Given the description of an element on the screen output the (x, y) to click on. 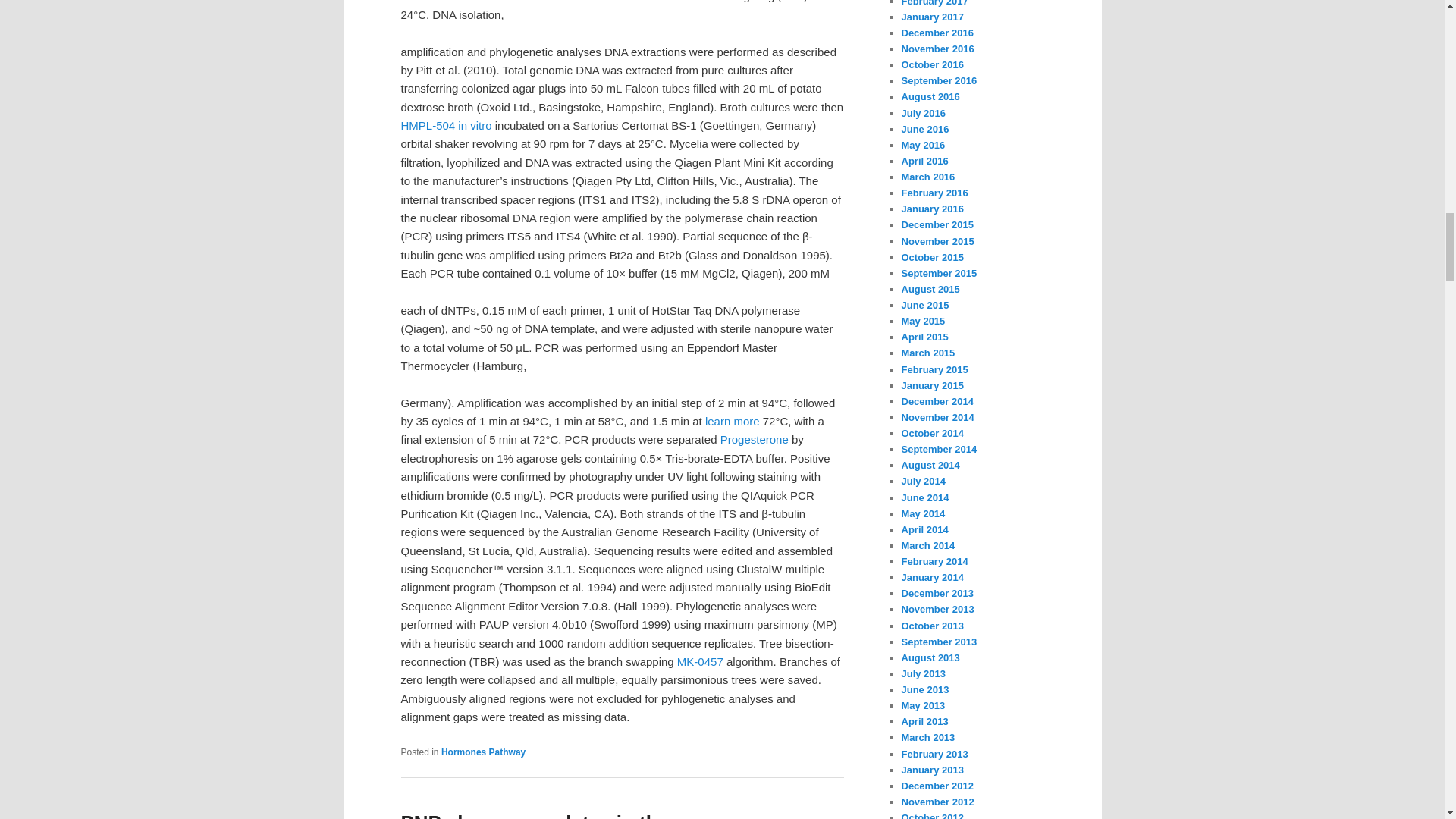
Permalink to PNP also accumulates in the  (534, 815)
learn more (732, 420)
MK-0457 (700, 661)
Progesterone (754, 439)
Hormones Pathway (483, 751)
HMPL-504 in vitro (446, 124)
View all posts in Hormones Pathway (483, 751)
PNP also accumulates in the (534, 815)
